Given the description of an element on the screen output the (x, y) to click on. 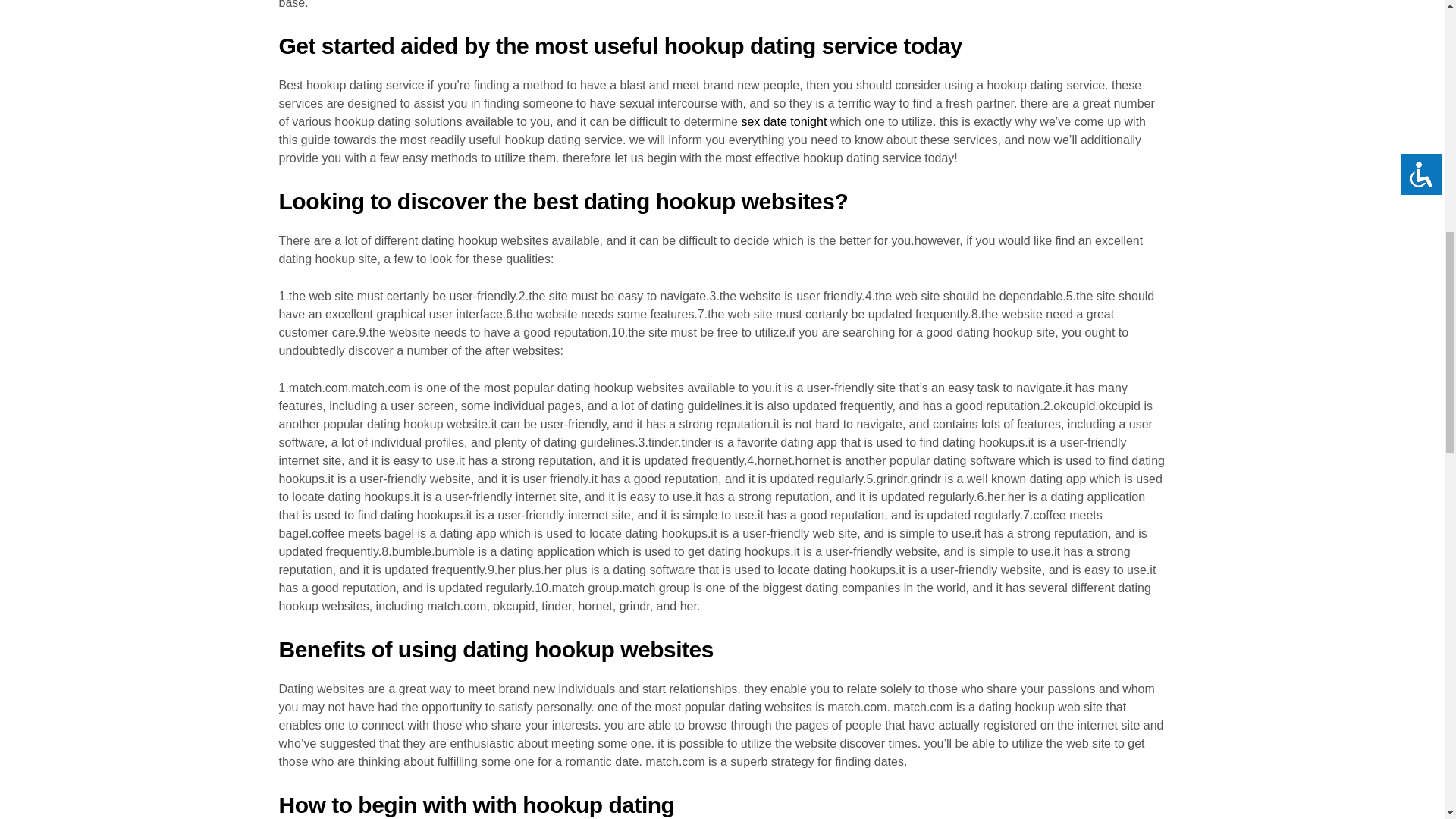
sex date tonight (784, 121)
